Given the description of an element on the screen output the (x, y) to click on. 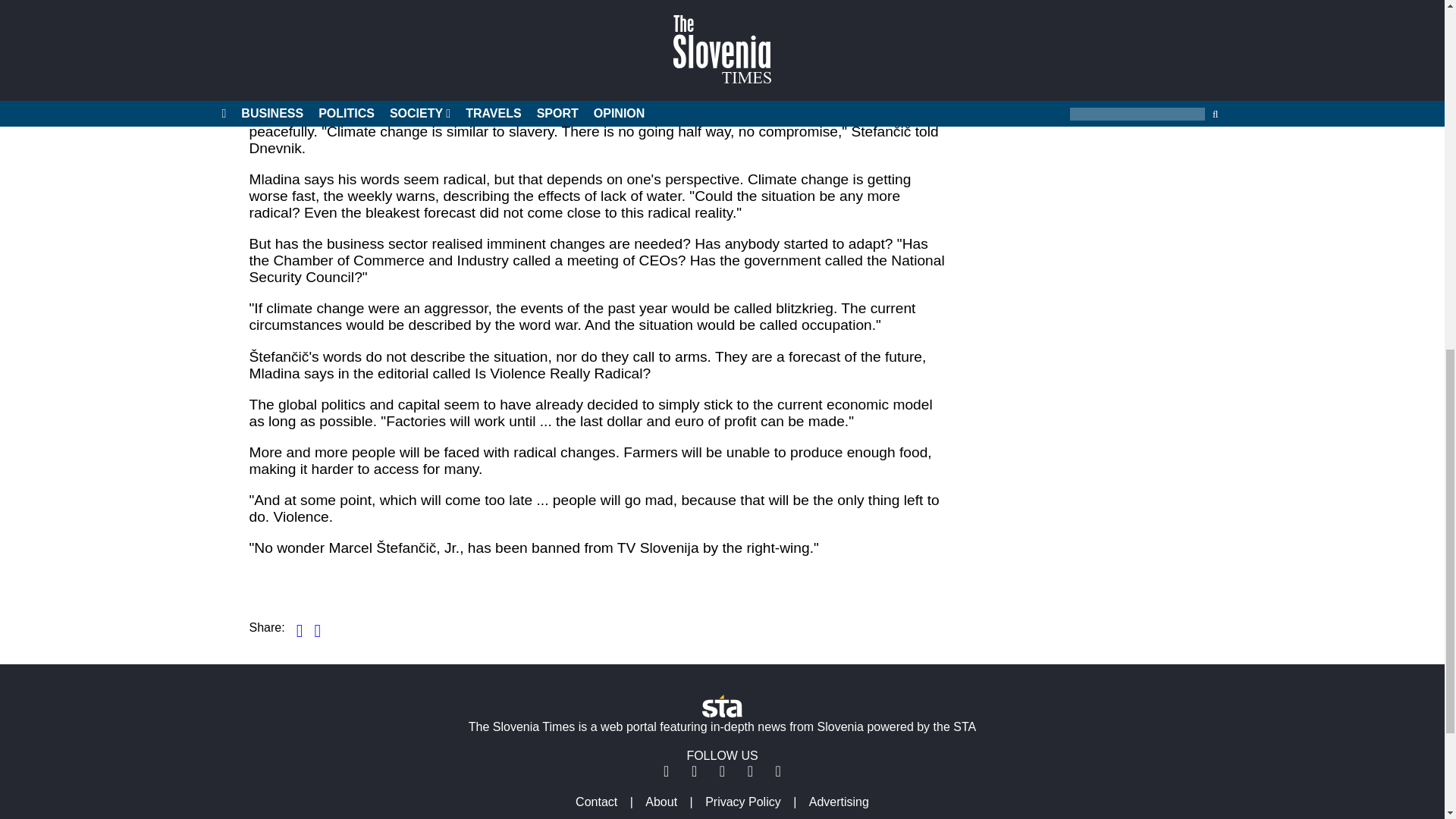
Advertising (838, 801)
Contact (596, 801)
About (660, 801)
Privacy Policy (742, 801)
